Given the description of an element on the screen output the (x, y) to click on. 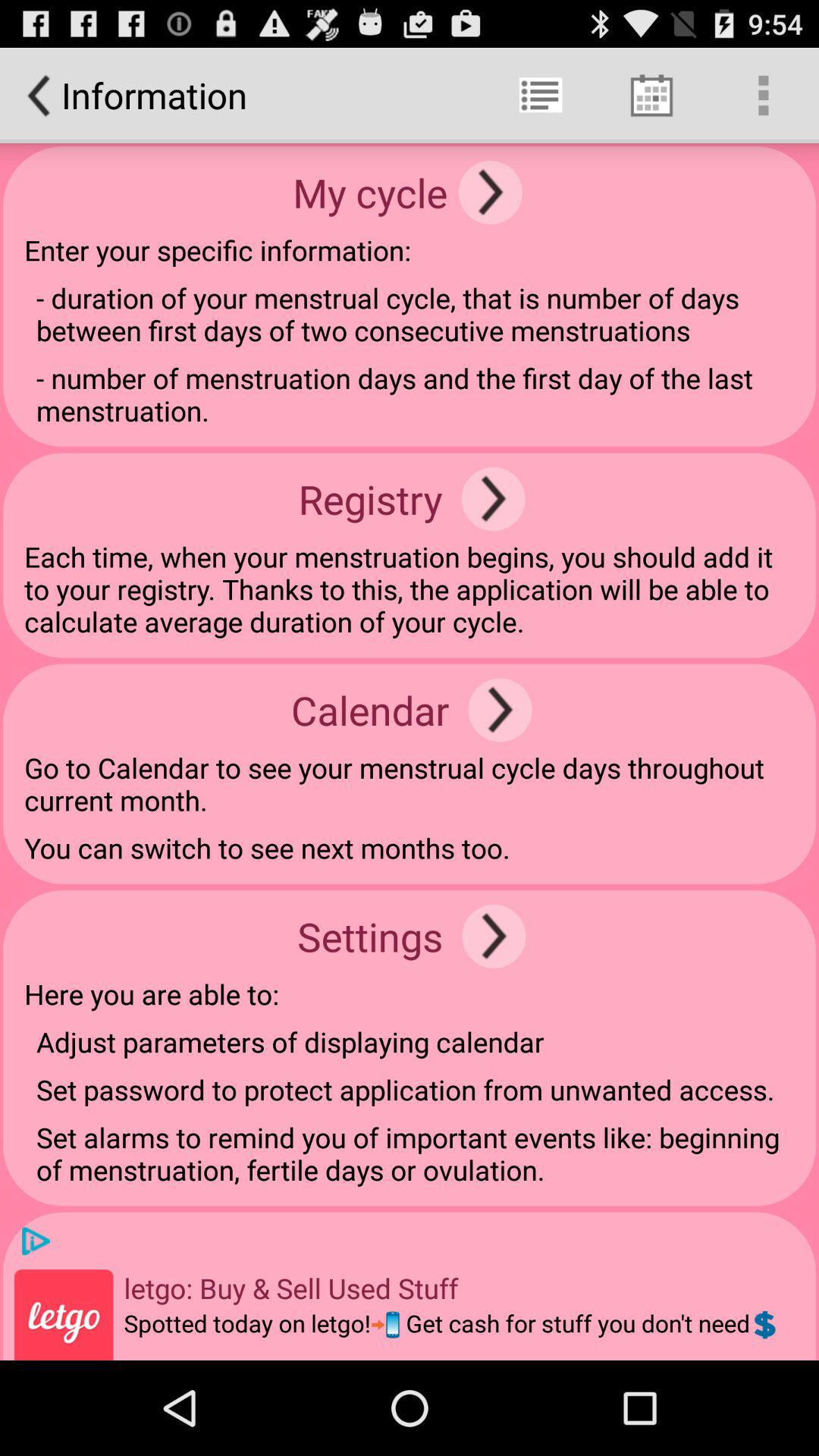
turn off the icon below the each time when item (500, 710)
